Given the description of an element on the screen output the (x, y) to click on. 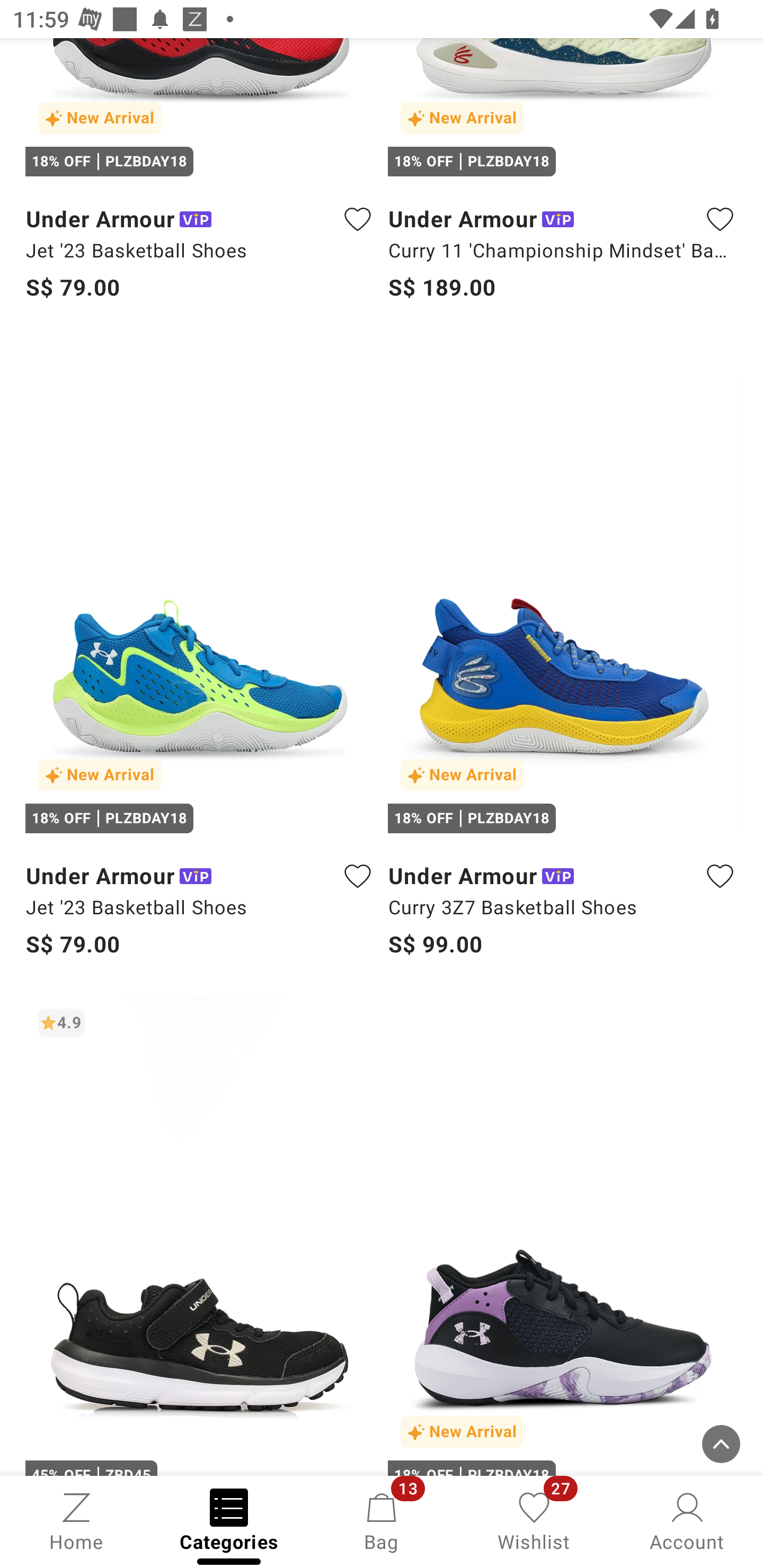
4.9 45% OFF ZBD45 (200, 1235)
New Arrival 18% OFF PLZBDAY18 (562, 1235)
Home (76, 1519)
Bag, 13 new notifications Bag (381, 1519)
Wishlist, 27 new notifications Wishlist (533, 1519)
Account (686, 1519)
